Given the description of an element on the screen output the (x, y) to click on. 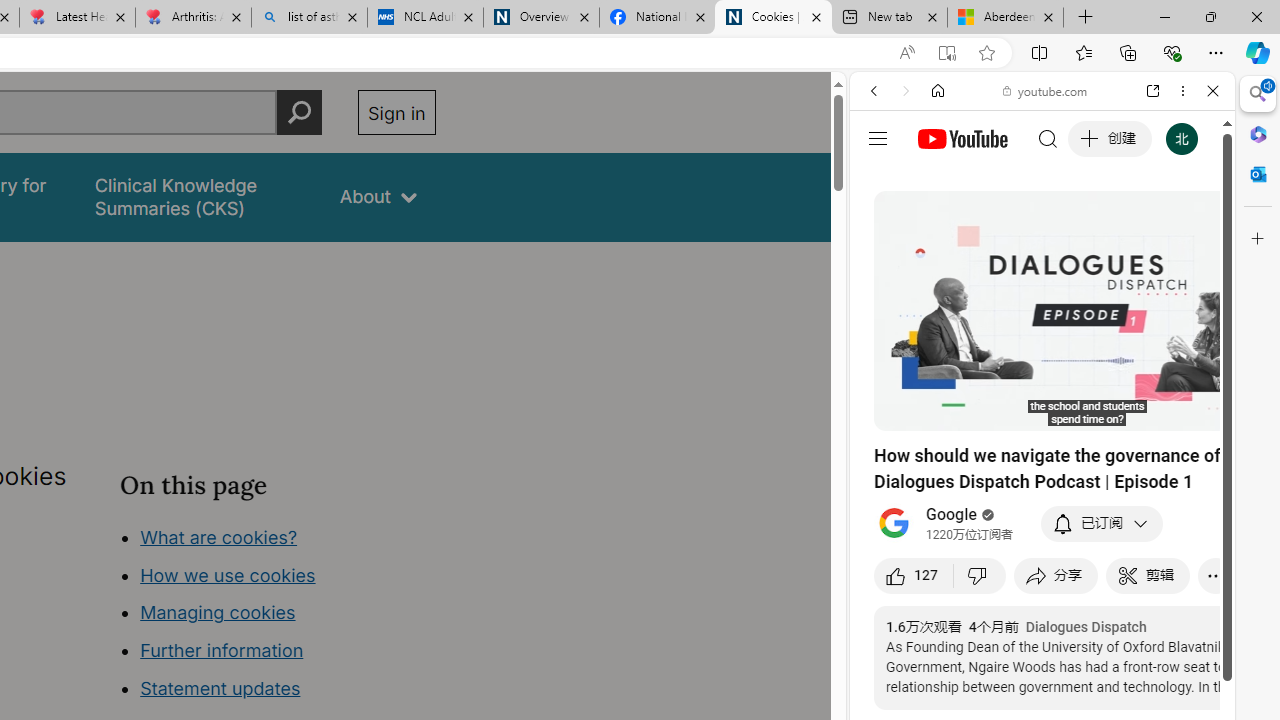
About (378, 196)
Music (1042, 543)
#you (1042, 445)
#you (1042, 445)
